Given the description of an element on the screen output the (x, y) to click on. 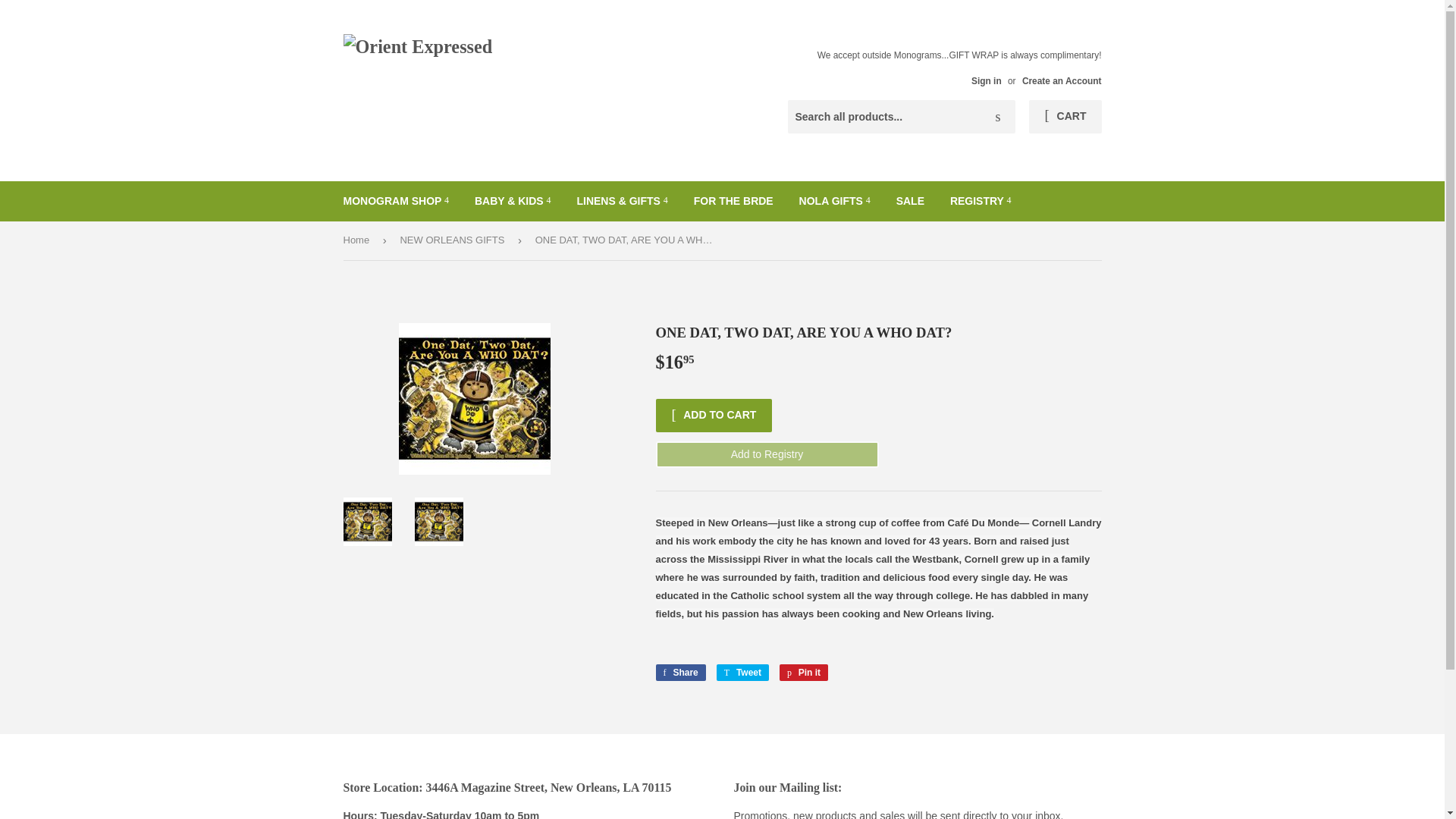
Search (997, 117)
CART (1064, 116)
Sign in (986, 81)
Pin on Pinterest (803, 672)
Share on Facebook (679, 672)
Tweet on Twitter (742, 672)
Create an Account (1062, 81)
